Given the description of an element on the screen output the (x, y) to click on. 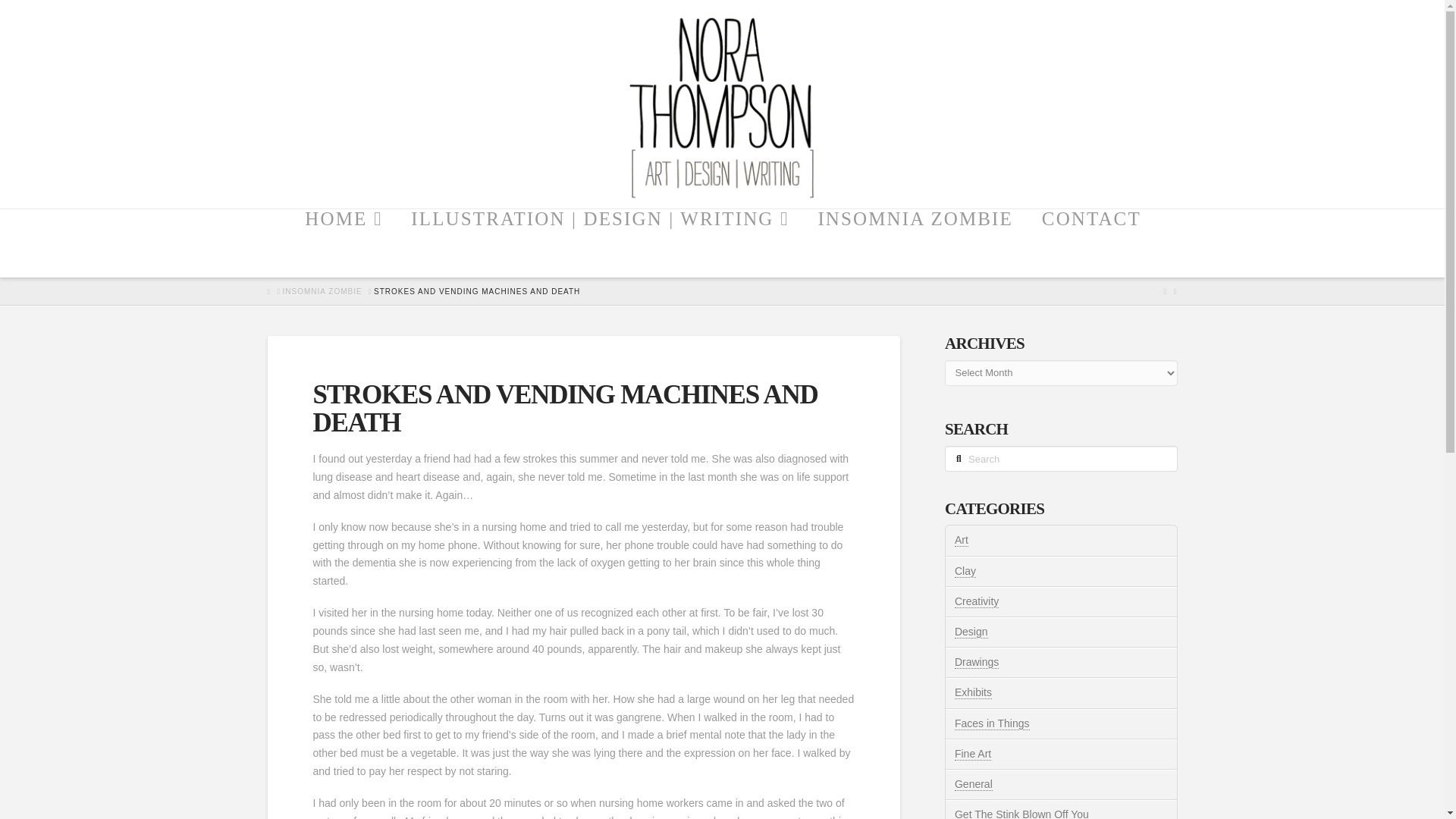
INSOMNIA ZOMBIE (322, 291)
You Are Here (476, 291)
INSOMNIA ZOMBIE (914, 243)
CONTACT (1090, 243)
HOME (342, 243)
